Given the description of an element on the screen output the (x, y) to click on. 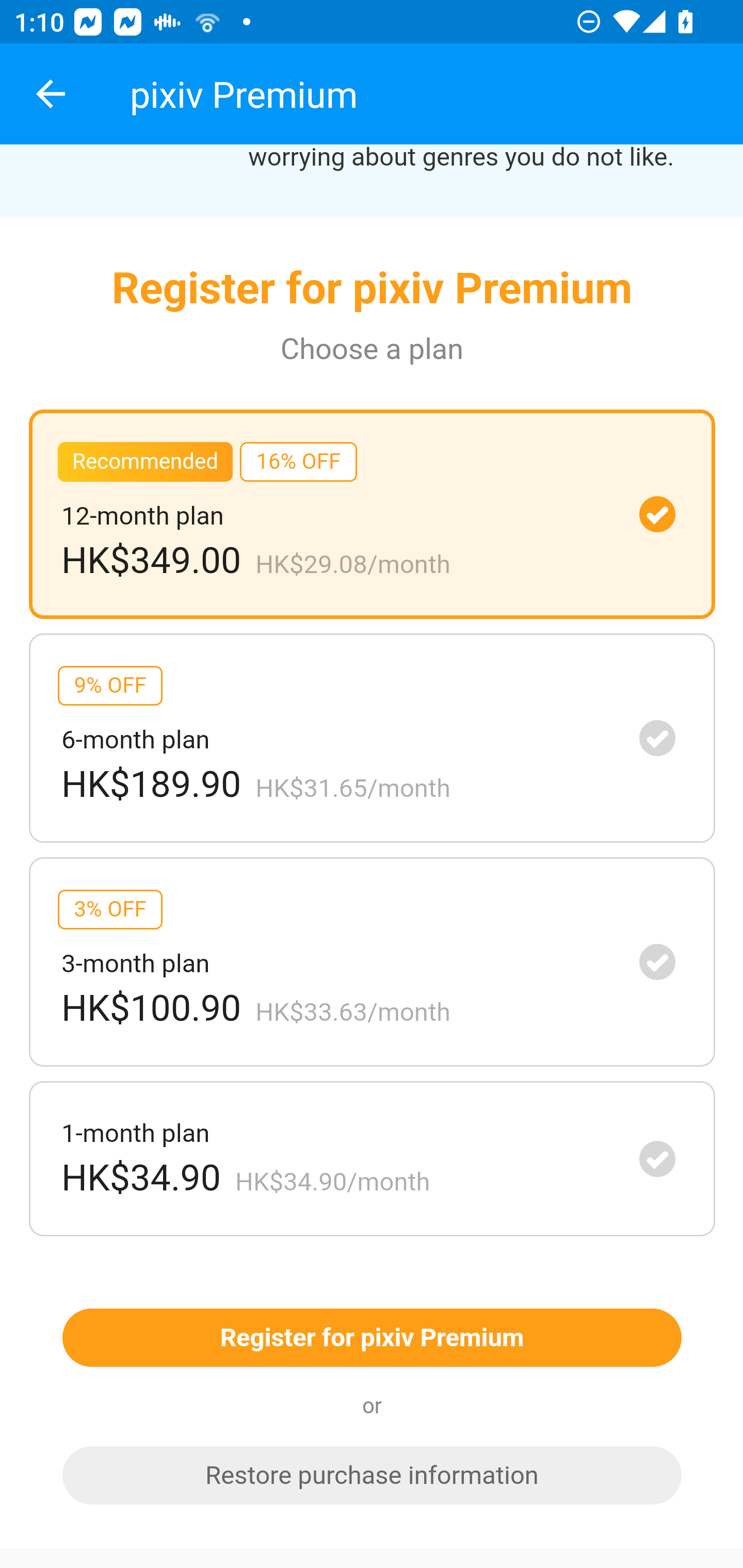
Navigate up (50, 93)
Register for pixiv Premium (371, 1338)
Restore purchase information (371, 1475)
